Given the description of an element on the screen output the (x, y) to click on. 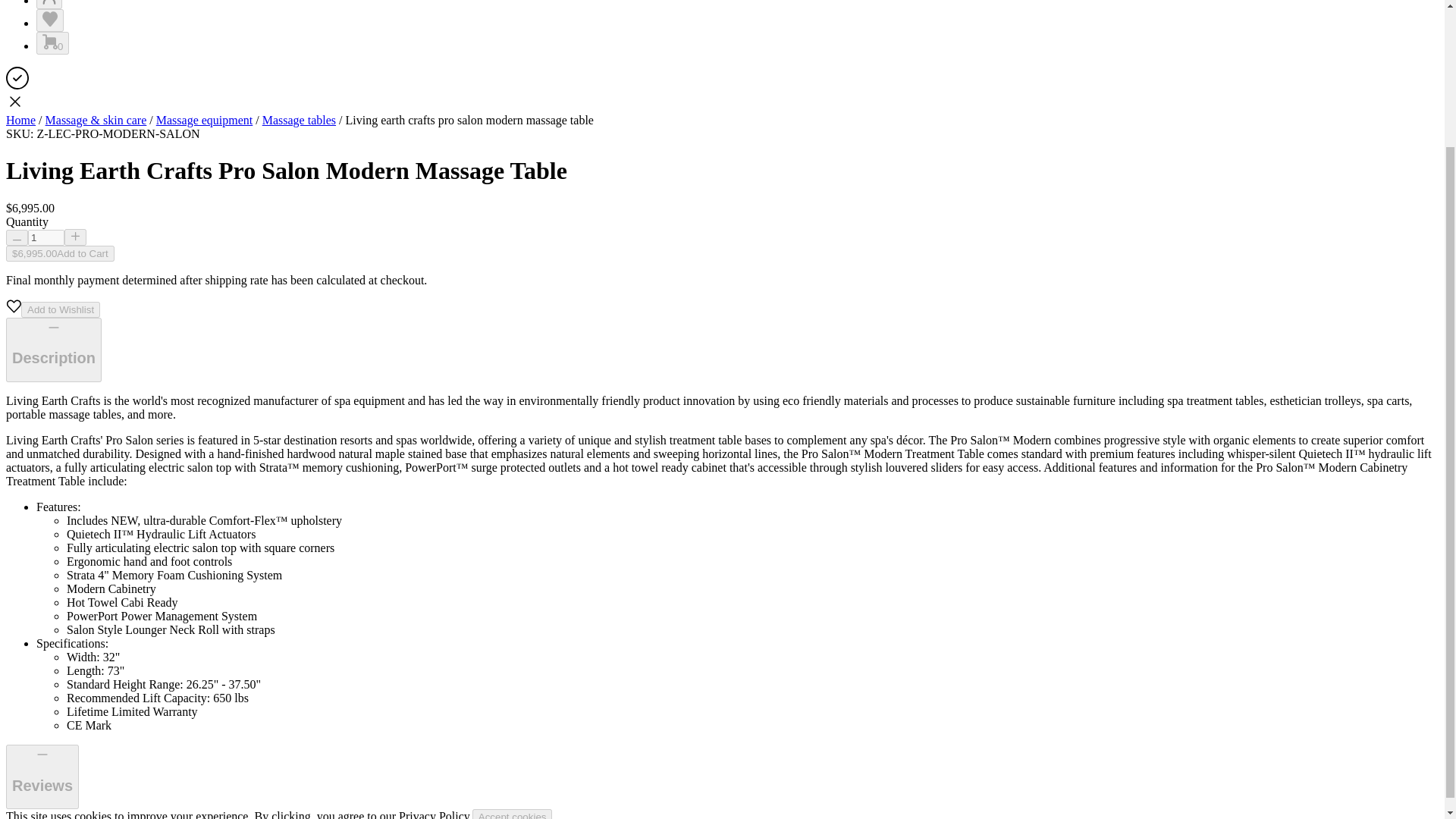
Home (19, 119)
0 (52, 42)
Massage tables (299, 119)
Add to Wishlist (60, 309)
Massage equipment (204, 119)
1 (45, 237)
Description (53, 349)
Reviews (41, 776)
